Given the description of an element on the screen output the (x, y) to click on. 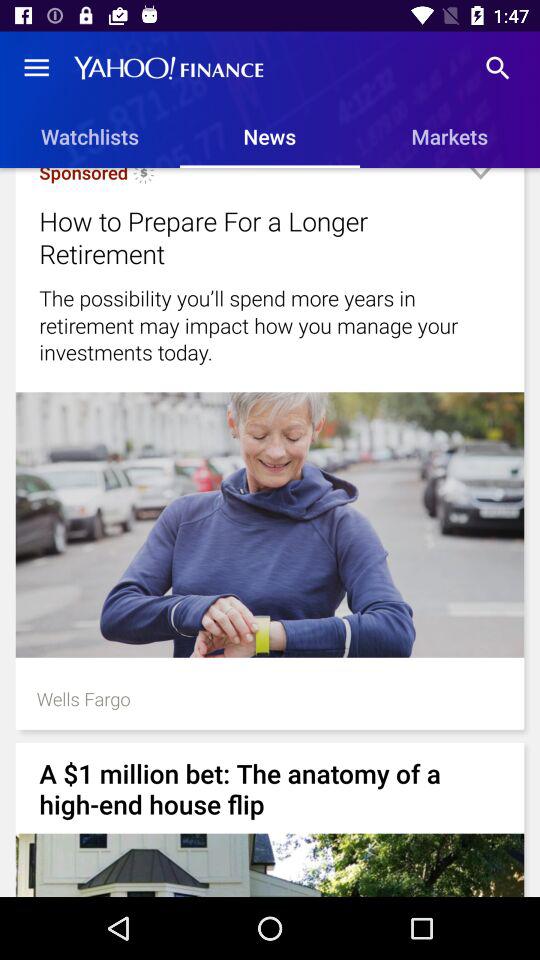
close add (480, 181)
